Given the description of an element on the screen output the (x, y) to click on. 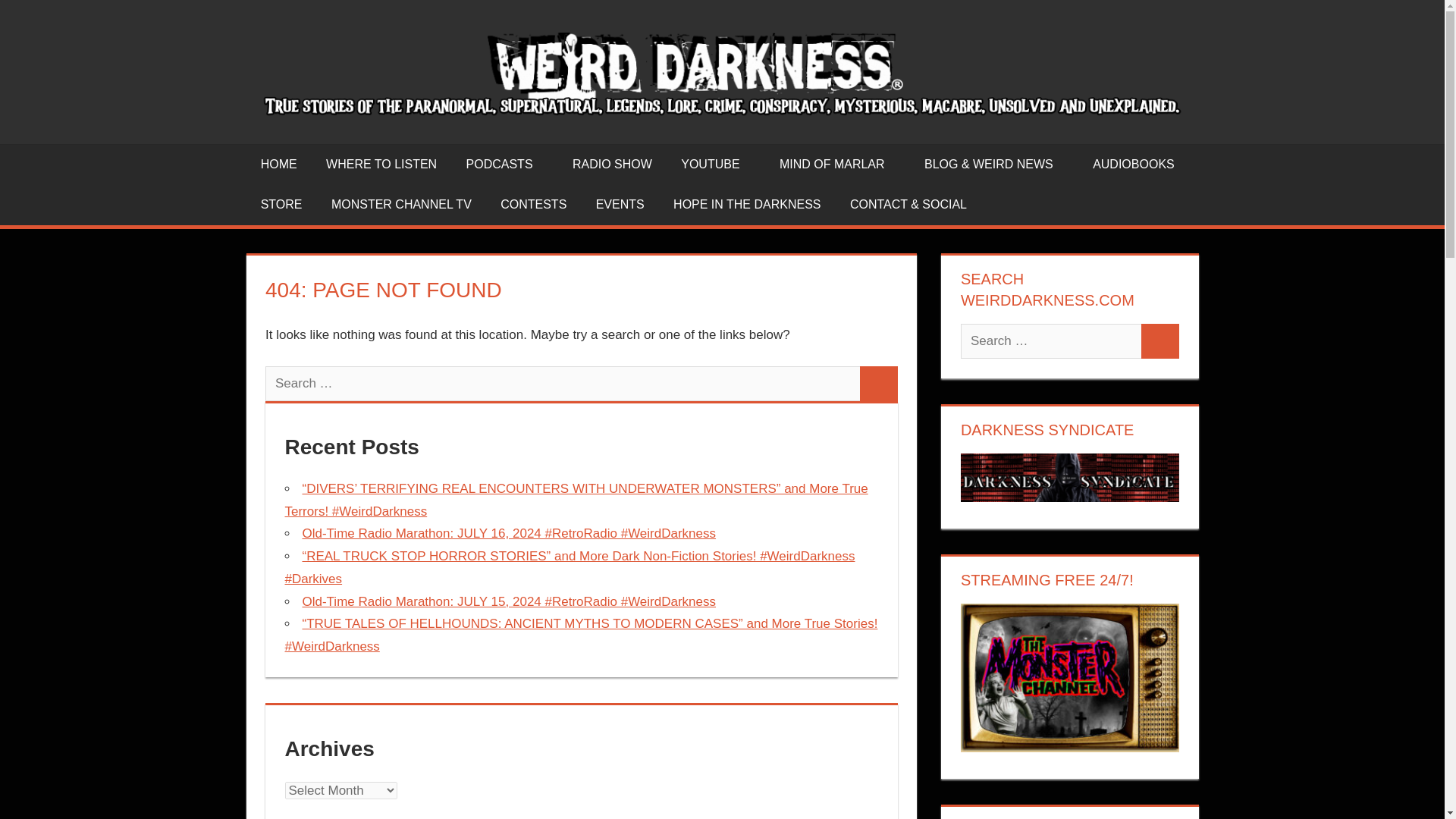
WHERE TO LISTEN (381, 164)
Search for: (1050, 340)
PODCASTS (504, 164)
YOUTUBE (715, 164)
HOME (278, 164)
Search for: (562, 383)
RADIO SHOW (611, 164)
MIND OF MARLAR (837, 164)
